Given the description of an element on the screen output the (x, y) to click on. 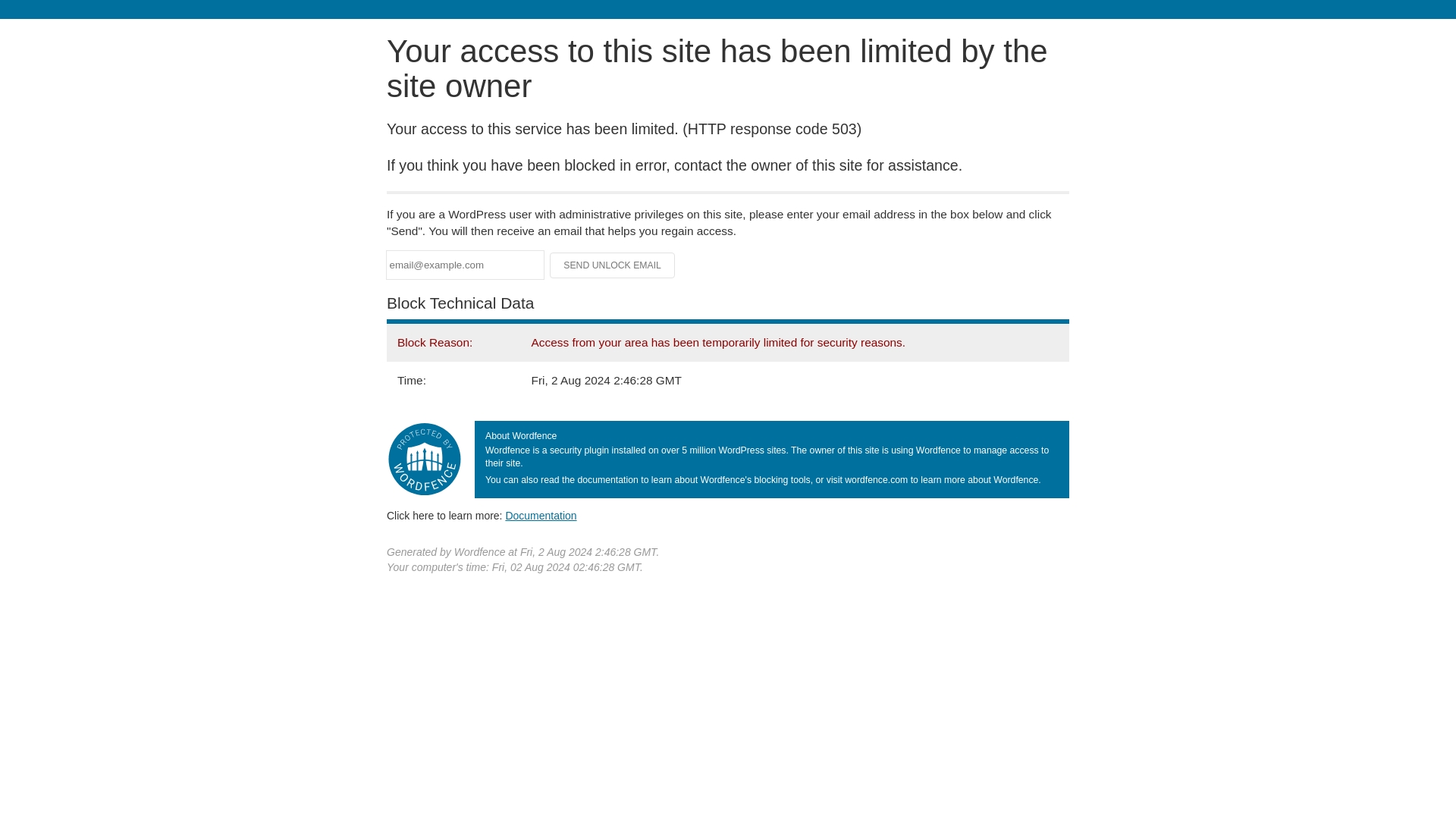
Documentation (540, 515)
Send Unlock Email (612, 265)
Send Unlock Email (612, 265)
